Given the description of an element on the screen output the (x, y) to click on. 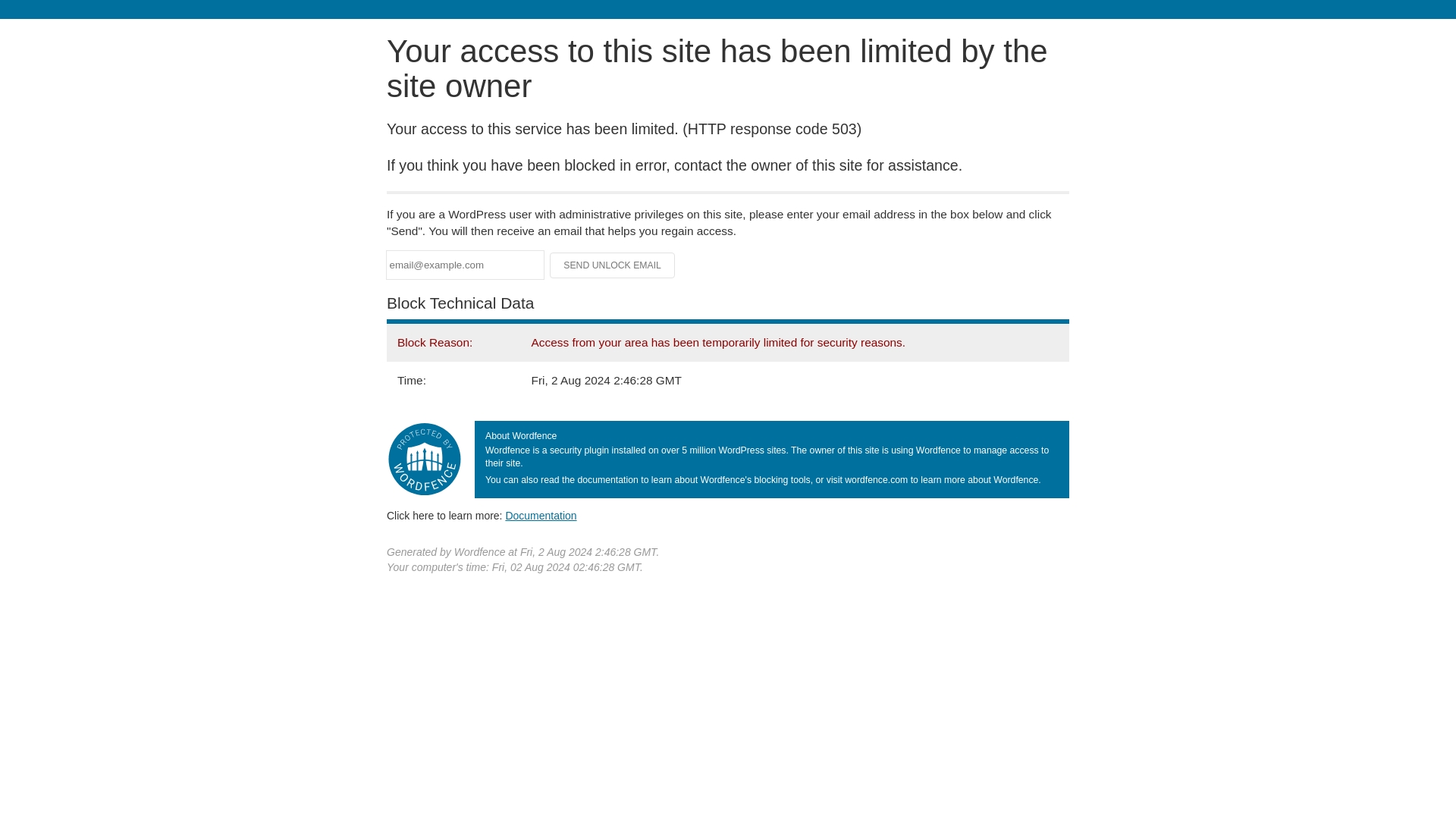
Documentation (540, 515)
Send Unlock Email (612, 265)
Send Unlock Email (612, 265)
